Given the description of an element on the screen output the (x, y) to click on. 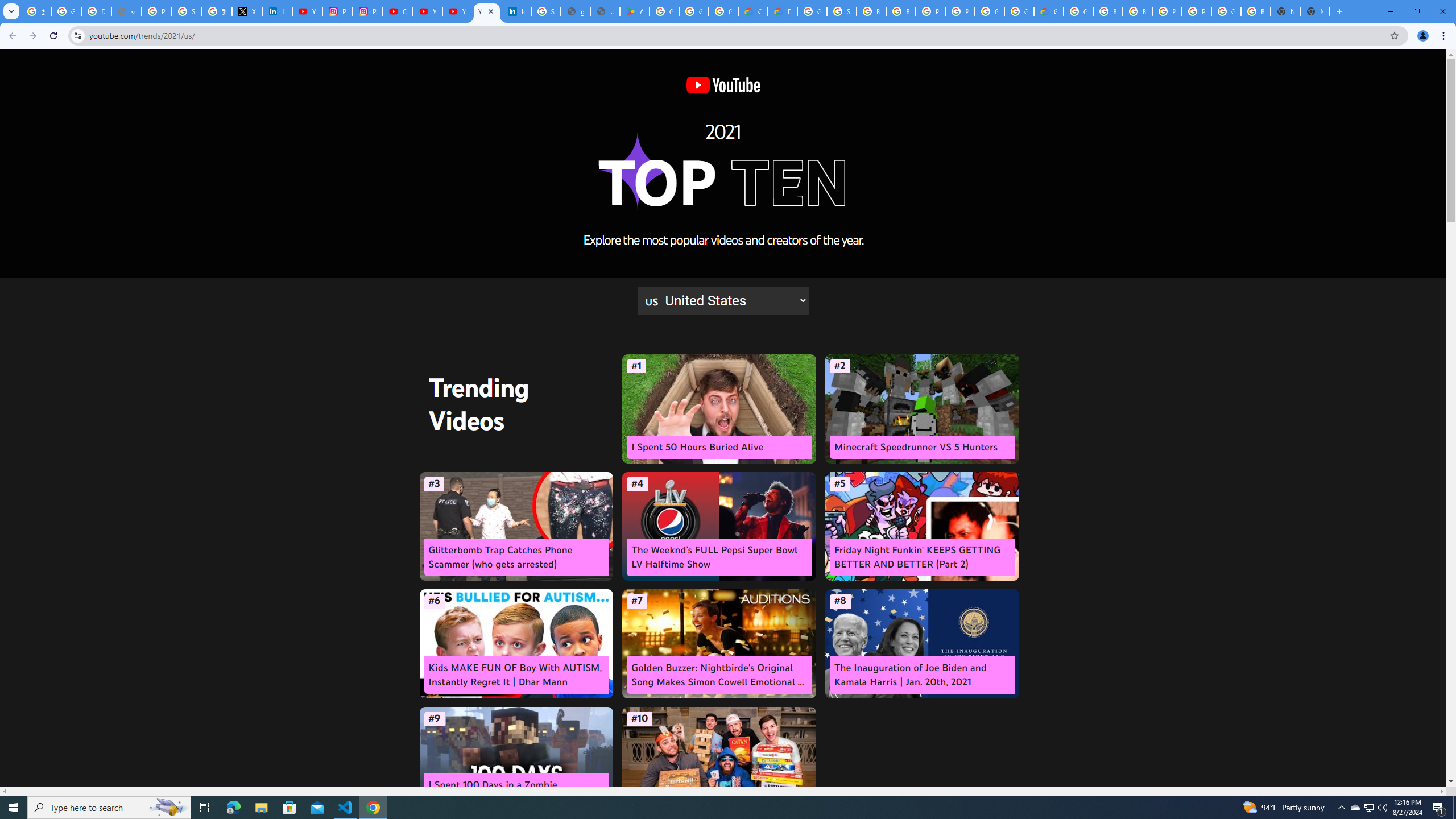
Sign in - Google Accounts (185, 11)
#10 Game Night Stereotypes (718, 761)
